Given the description of an element on the screen output the (x, y) to click on. 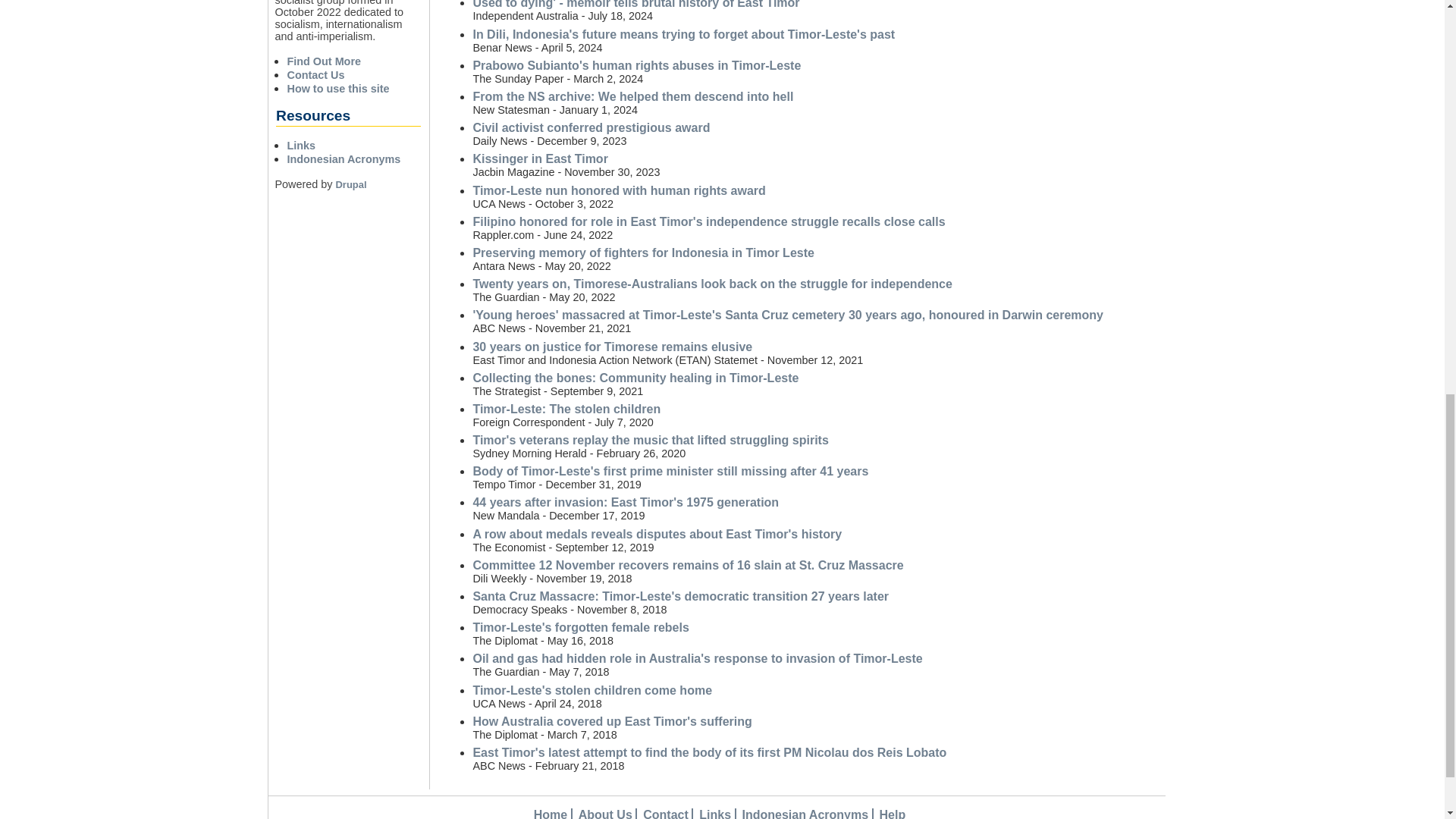
How Australia covered up East Timor's suffering (611, 721)
Timor-Leste's stolen children come home (591, 689)
Timor-Leste's forgotten female rebels (579, 626)
Prabowo Subianto's human rights abuses in Timor-Leste (635, 65)
Timor-Leste: The stolen children (566, 408)
30 years on justice for Timorese remains elusive (611, 345)
